Given the description of an element on the screen output the (x, y) to click on. 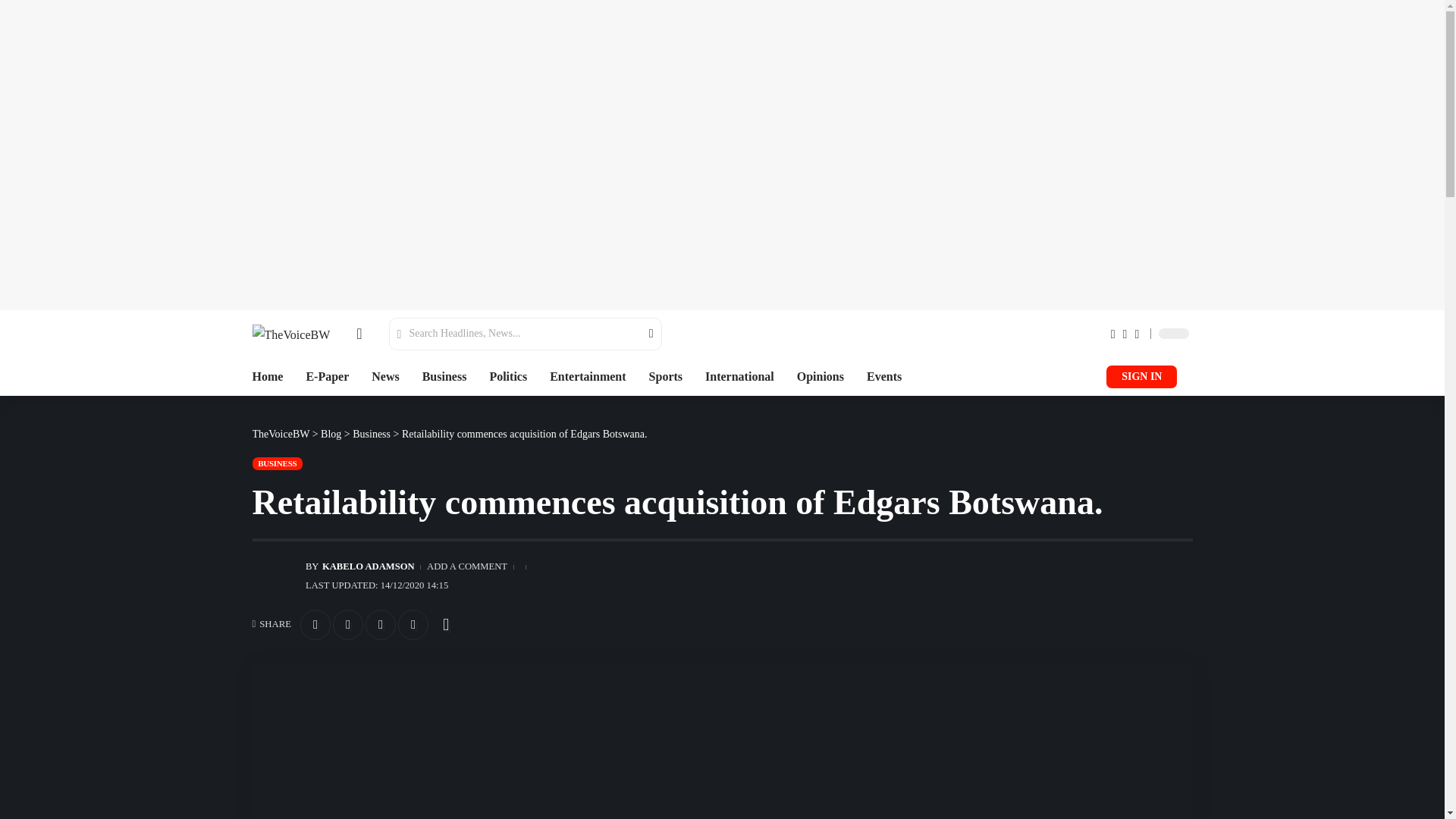
Business (444, 376)
Entertainment (588, 376)
International (739, 376)
E-Paper (327, 376)
Opinions (820, 376)
Search (642, 333)
Go to Blog. (330, 433)
Go to TheVoiceBW. (279, 433)
Sports (665, 376)
Home (266, 376)
